Given the description of an element on the screen output the (x, y) to click on. 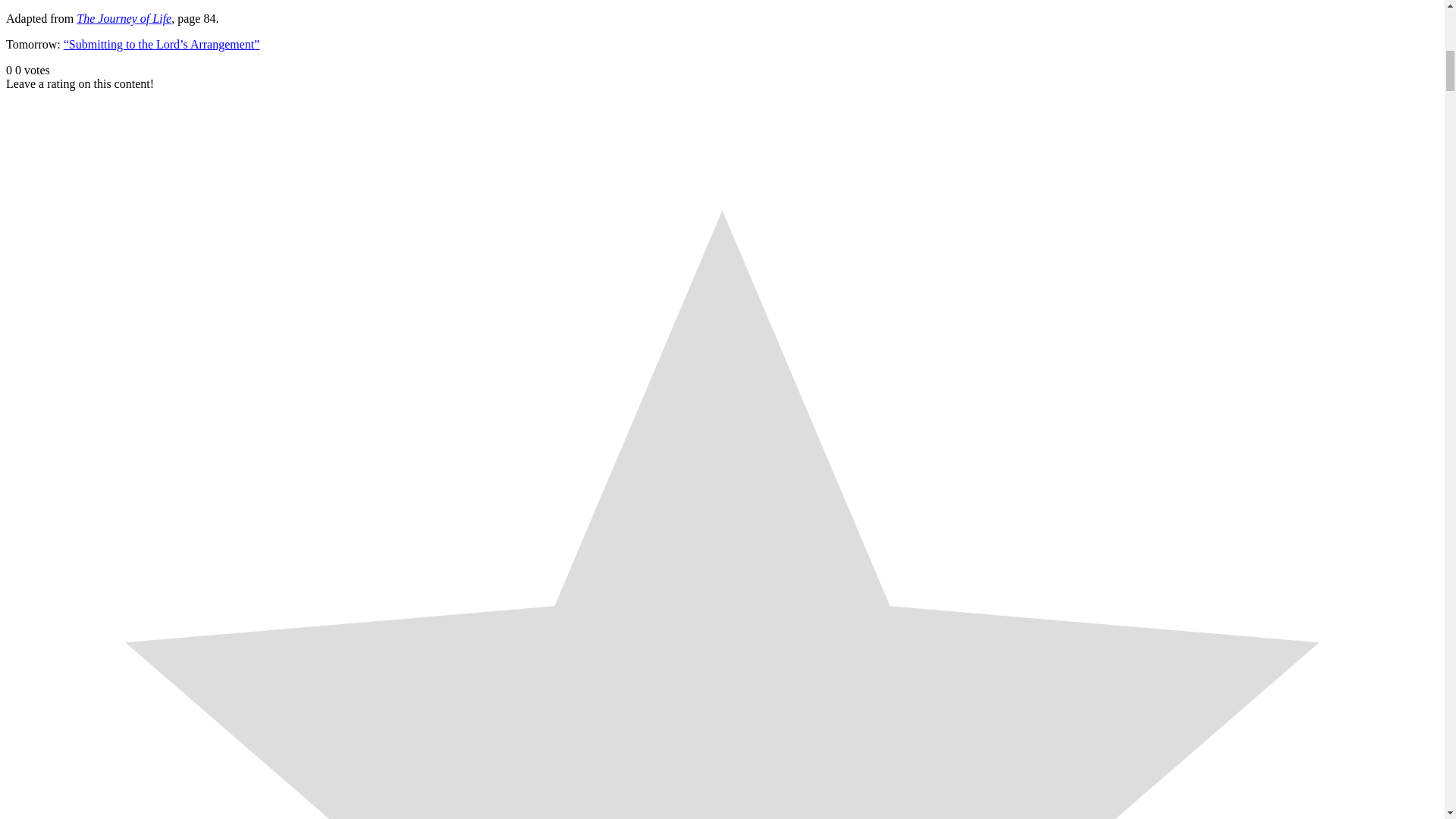
Go to the entry for this "Daily Word." (162, 43)
The Journey of Life (124, 18)
Go to the listing for this book. (124, 18)
